Given the description of an element on the screen output the (x, y) to click on. 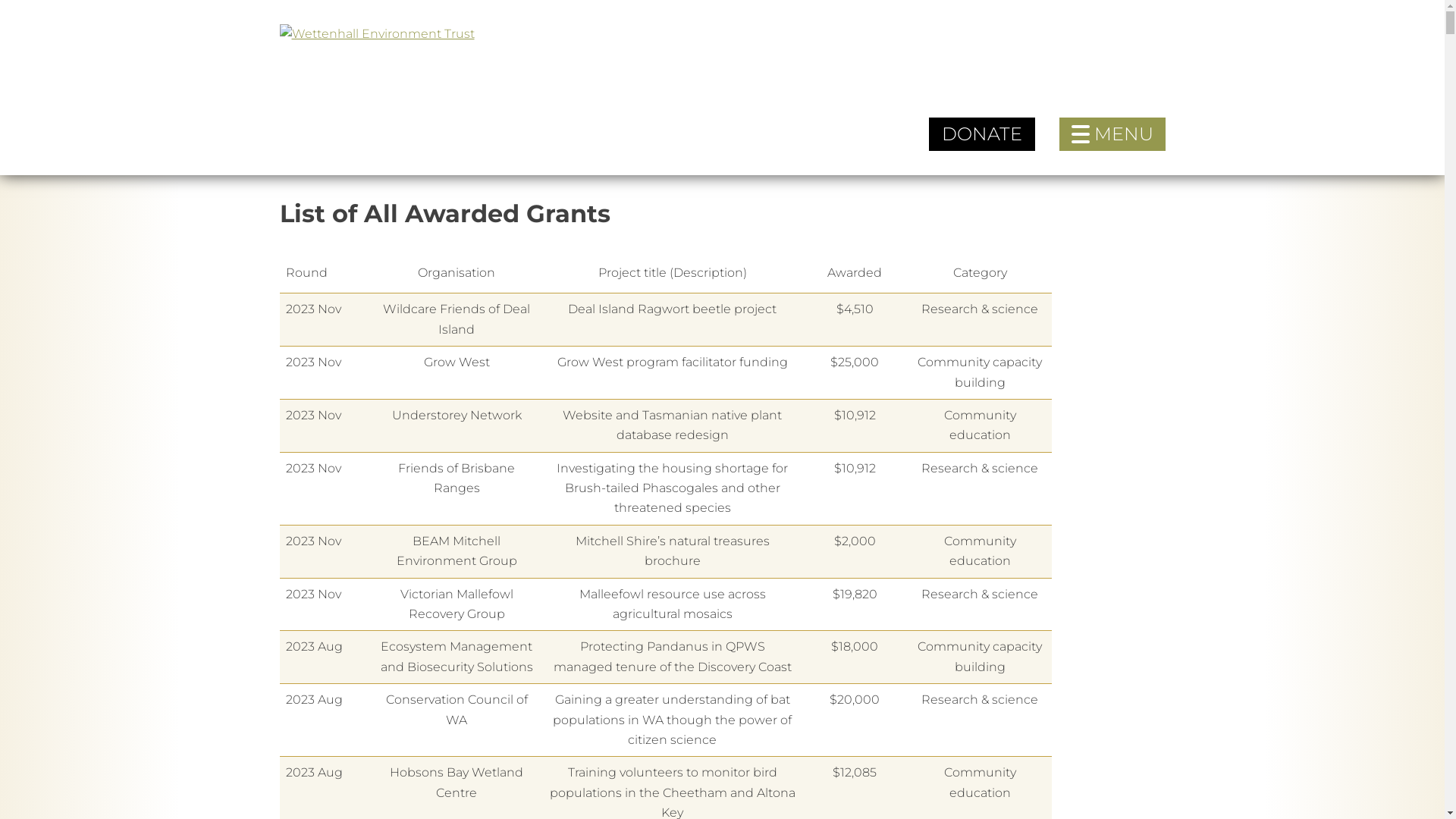
DONATE Element type: text (981, 133)
MENU Element type: text (1111, 133)
